Given the description of an element on the screen output the (x, y) to click on. 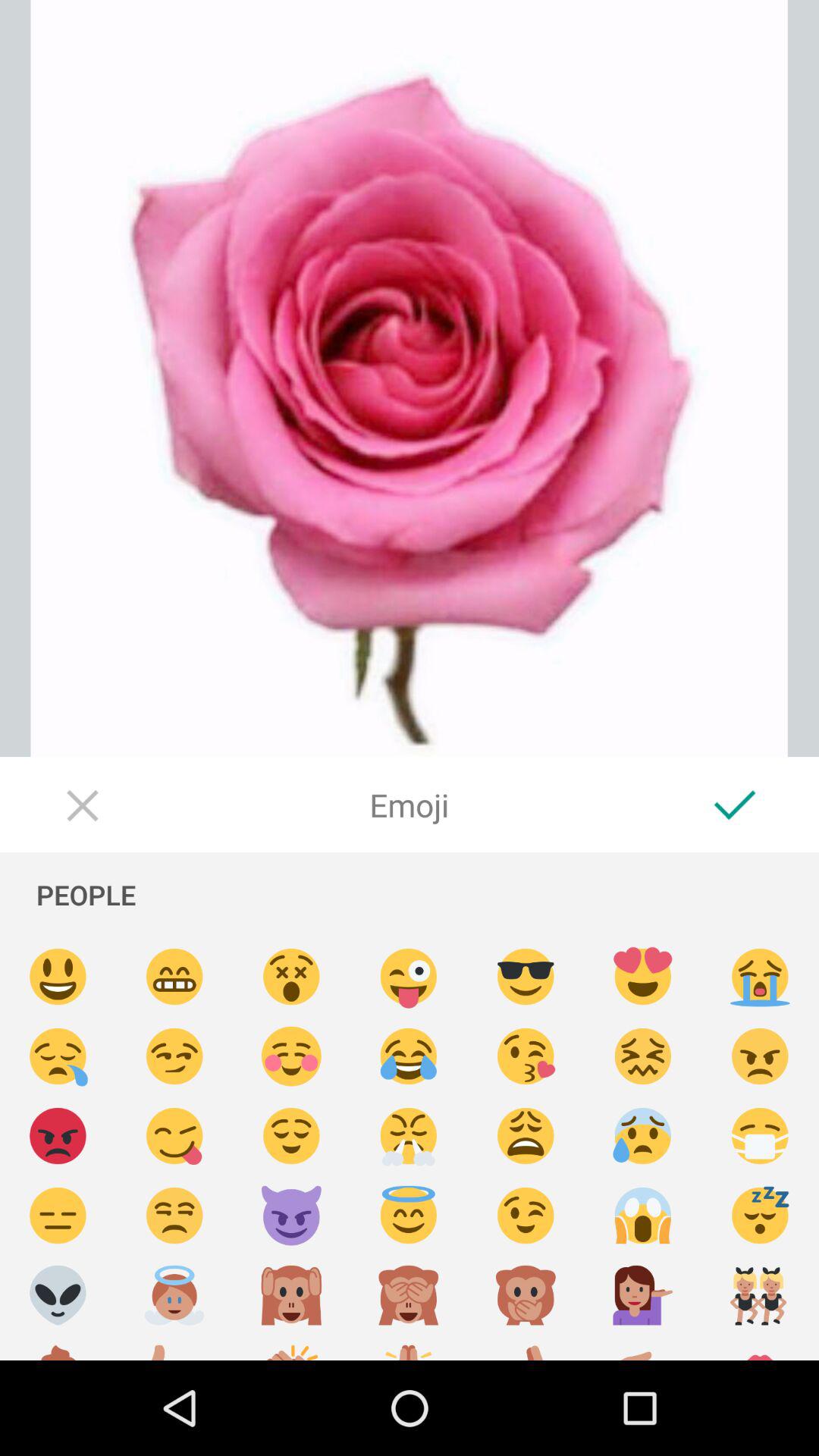
insert emoji (525, 1136)
